Given the description of an element on the screen output the (x, y) to click on. 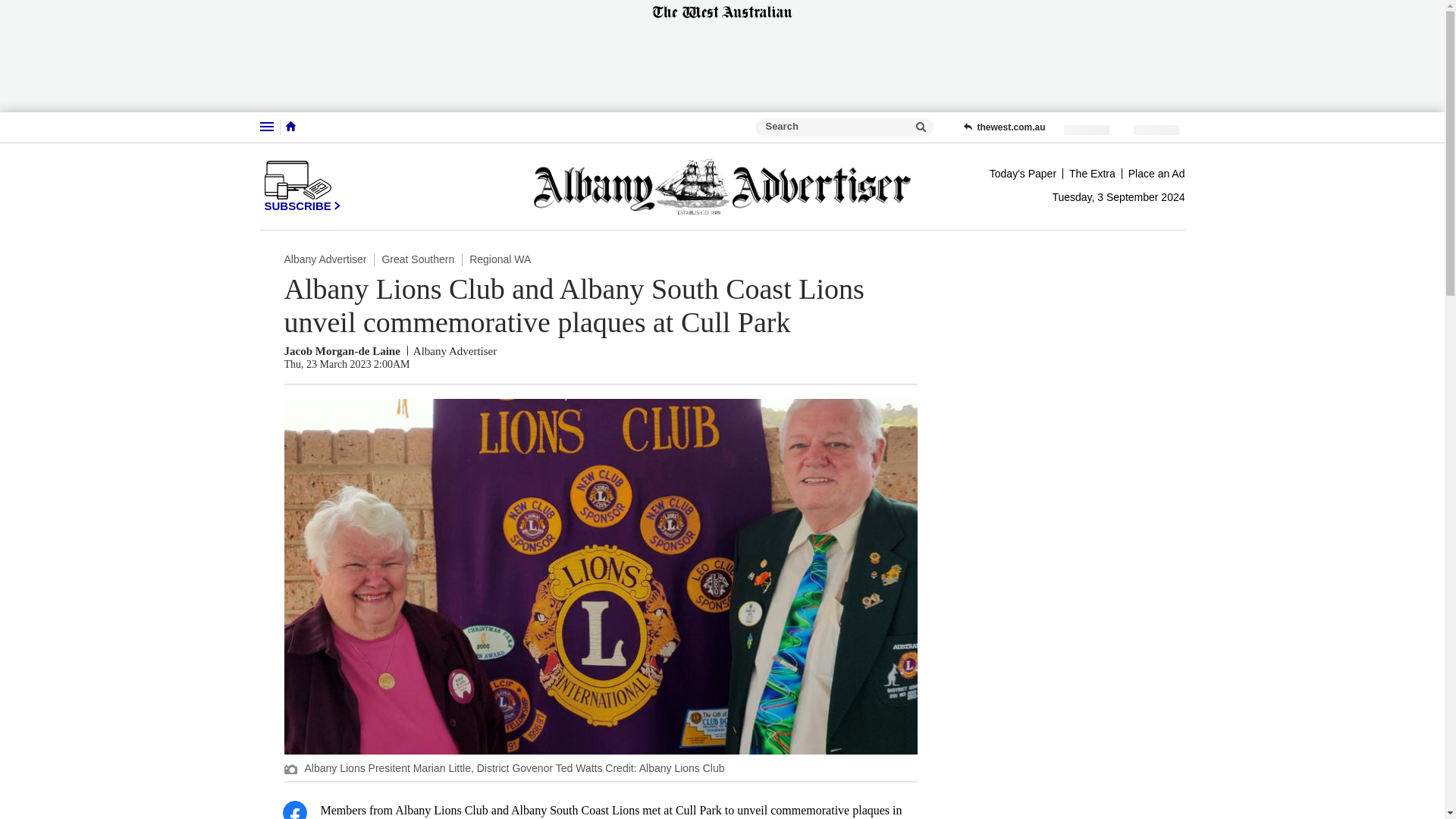
Please enter a search term. (921, 127)
Home (290, 126)
Home (290, 126)
thewest.com.au (1004, 127)
SUBSCRIBE CHEVRON RIGHT ICON (302, 185)
